Given the description of an element on the screen output the (x, y) to click on. 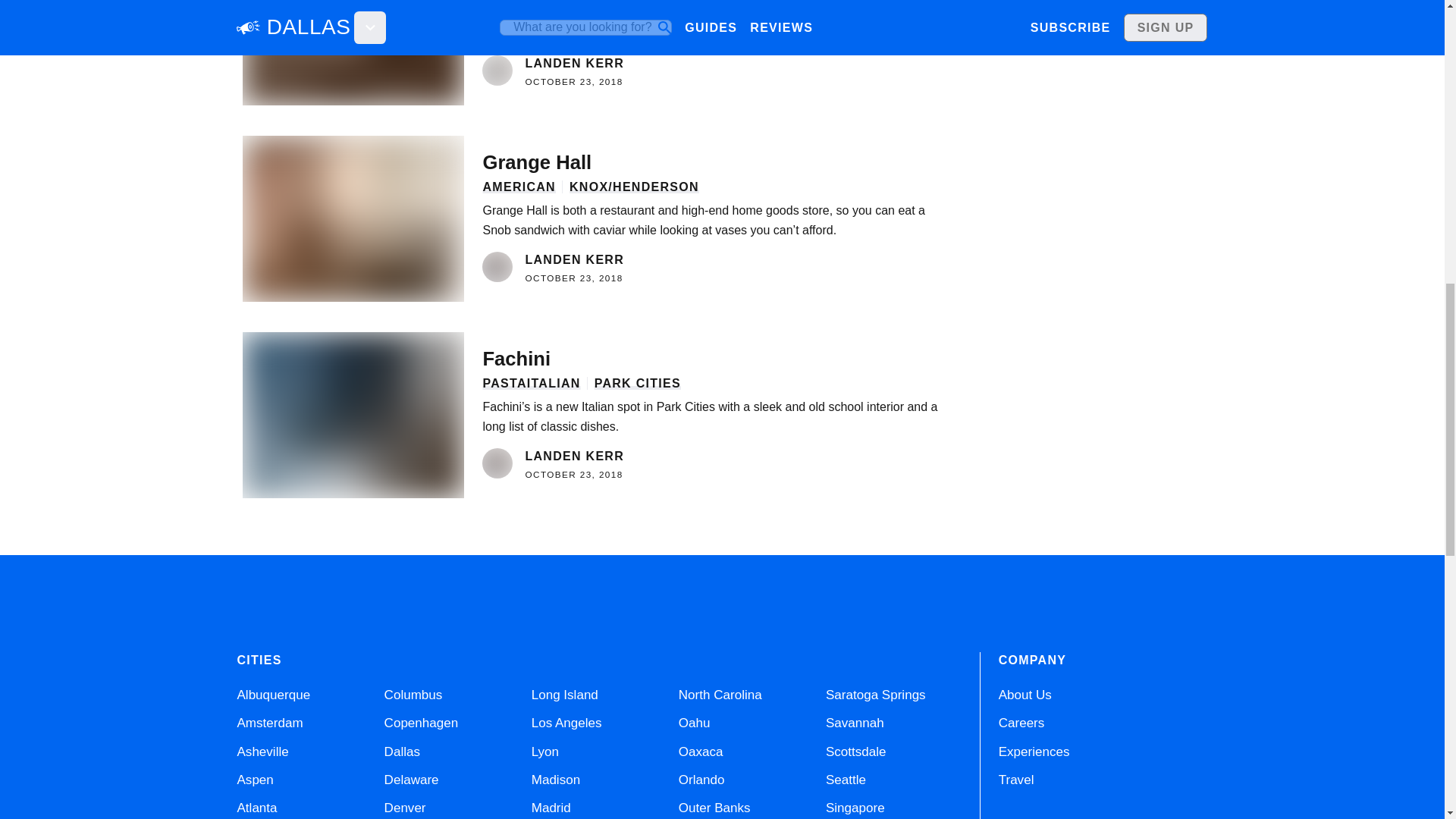
PARK CITIES (637, 383)
Albuquerque (272, 694)
Grange Hall (711, 162)
AMERICAN (517, 186)
Fachini (711, 359)
ITALIAN (553, 383)
PASTA (503, 383)
